Given the description of an element on the screen output the (x, y) to click on. 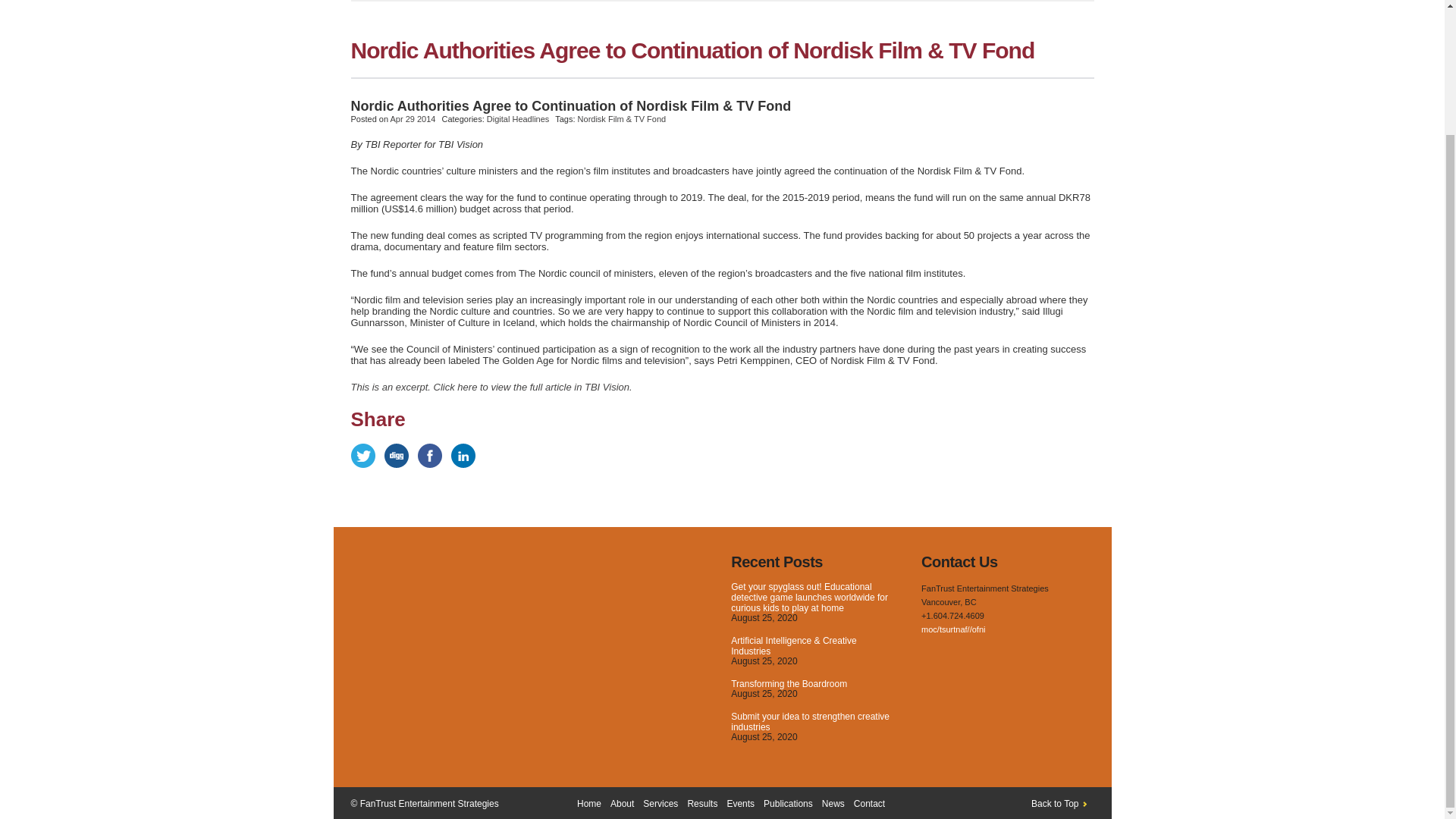
NEWS (834, 0)
Services (660, 803)
News (833, 803)
Events (740, 803)
SERVICES (516, 0)
August 25, 2020 (763, 661)
August 25, 2020 (763, 693)
RESULTS (593, 0)
Tuesday, August 25th, 2020, 2:50 pm (763, 661)
Back to Top (1061, 803)
